Given the description of an element on the screen output the (x, y) to click on. 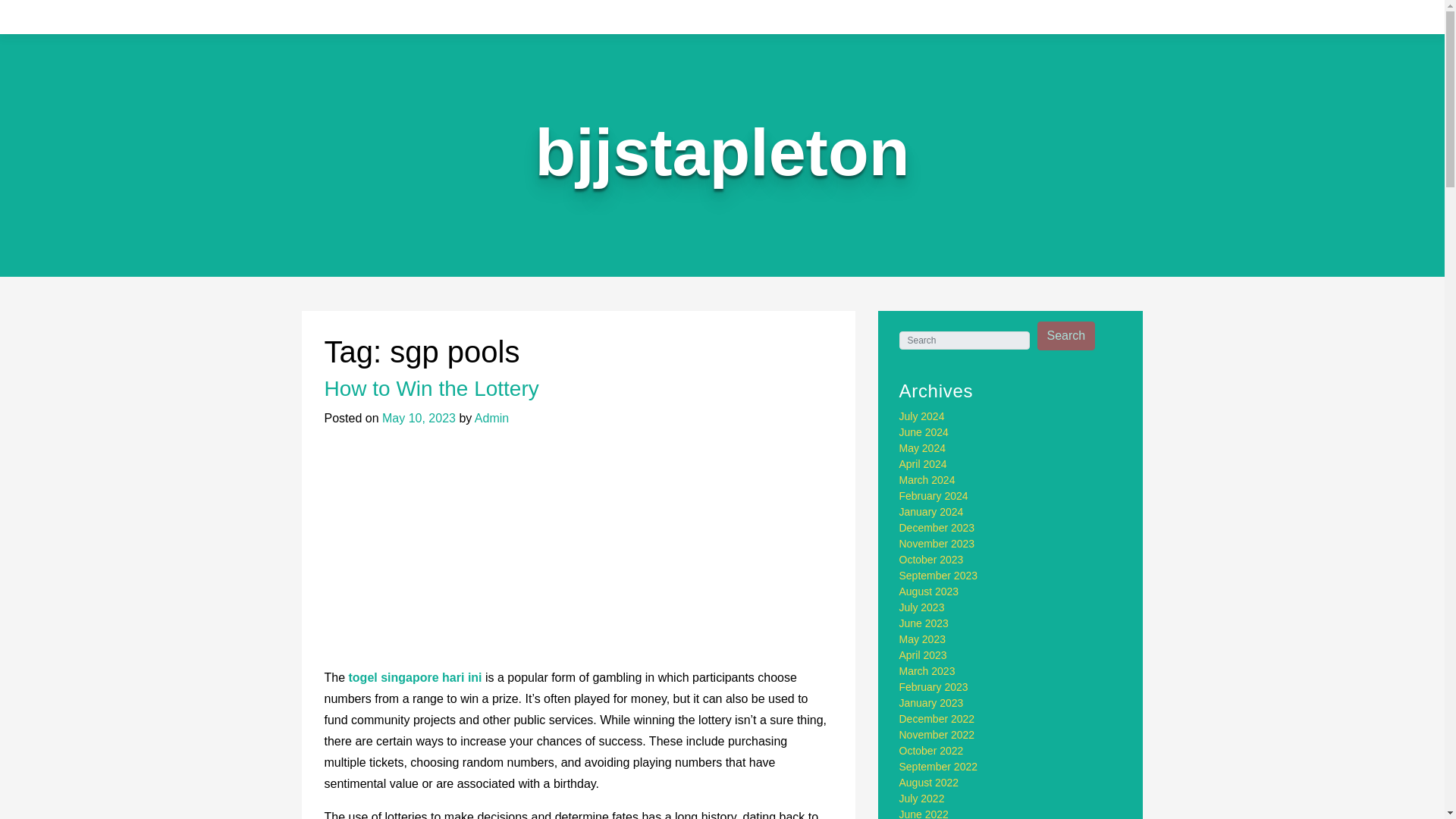
Admin (491, 418)
togel singapore hari ini (415, 676)
How to Win the Lottery (431, 388)
May 10, 2023 (418, 418)
